Given the description of an element on the screen output the (x, y) to click on. 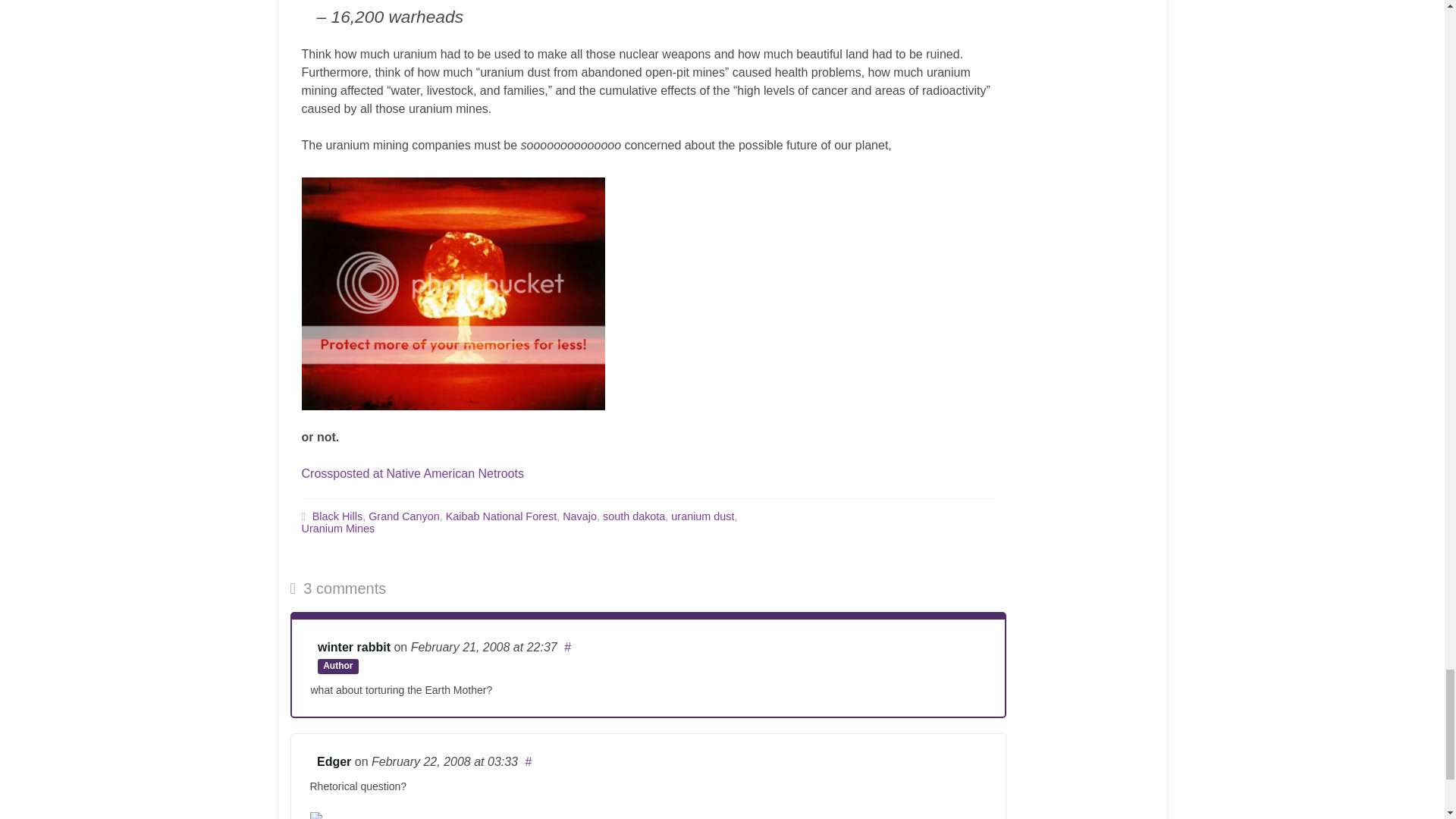
uranium dust (702, 515)
Grand Canyon (403, 515)
Edger (333, 761)
Uranium Mines (338, 527)
Black Hills (337, 515)
Crossposted at Native American Netroots (412, 472)
Navajo (579, 515)
south dakota (633, 515)
Kaibab National Forest (500, 515)
winter rabbit (353, 645)
